Given the description of an element on the screen output the (x, y) to click on. 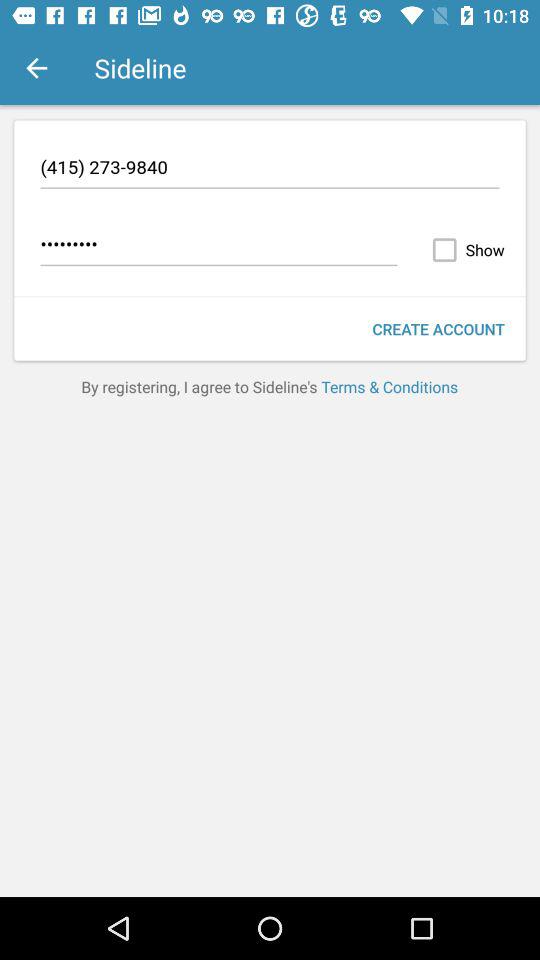
turn off the item next to the show item (218, 247)
